Given the description of an element on the screen output the (x, y) to click on. 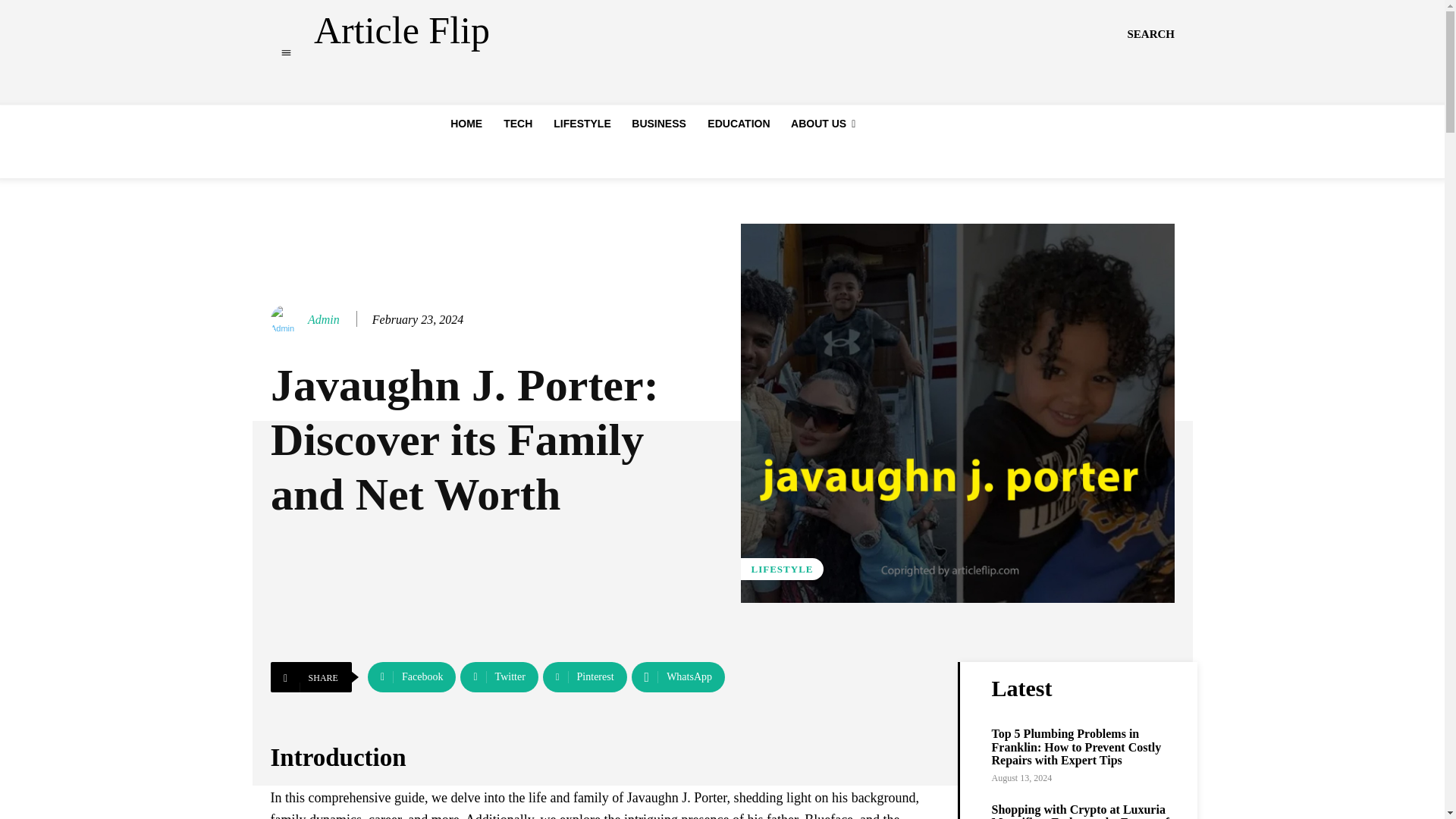
Pinterest (585, 676)
Article Flip (401, 30)
Admin (286, 319)
Twitter (498, 676)
WhatsApp (678, 676)
HOME (466, 123)
Facebook (412, 676)
